Given the description of an element on the screen output the (x, y) to click on. 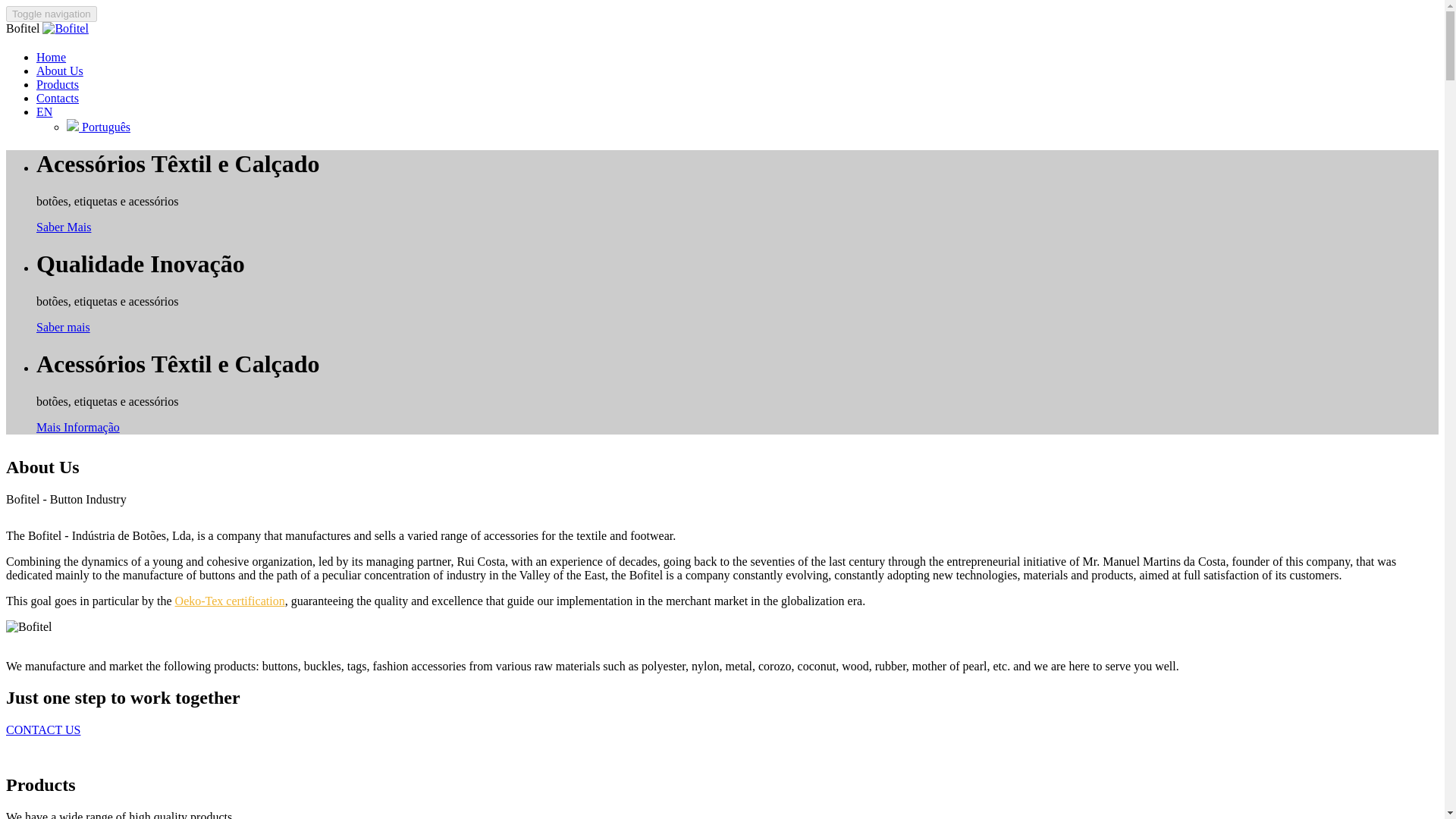
Saber mais (63, 327)
Products (57, 83)
EN (44, 111)
Oeko-Tex certification (229, 600)
CONTACT US (42, 729)
Home (50, 56)
Contacts (57, 97)
CONTACT US (42, 729)
Toggle navigation (51, 13)
Bofitel (27, 626)
